Given the description of an element on the screen output the (x, y) to click on. 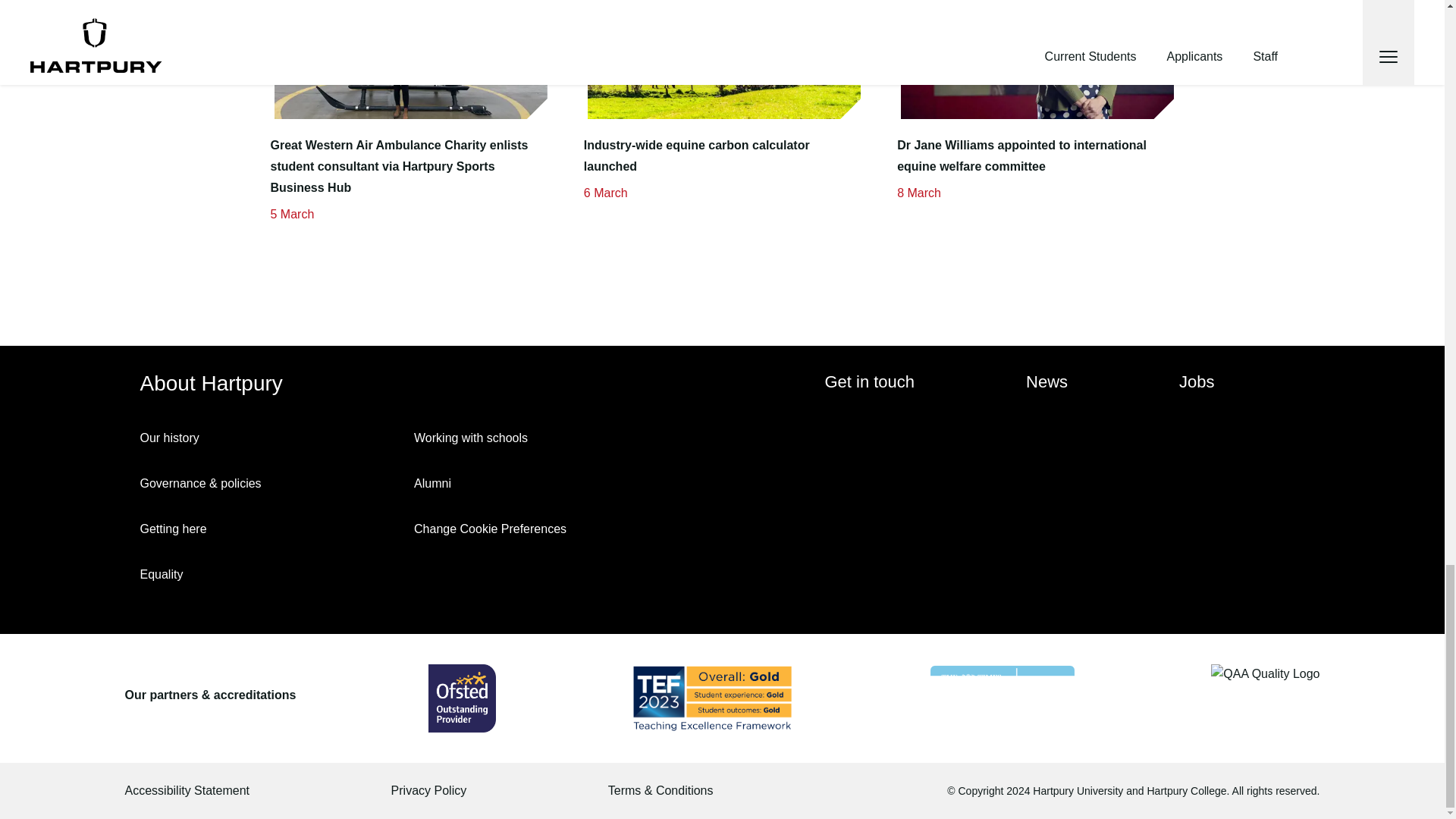
Our history (270, 437)
Industry-wide equine carbon calculator launched (721, 156)
About Hartpury (216, 383)
